Given the description of an element on the screen output the (x, y) to click on. 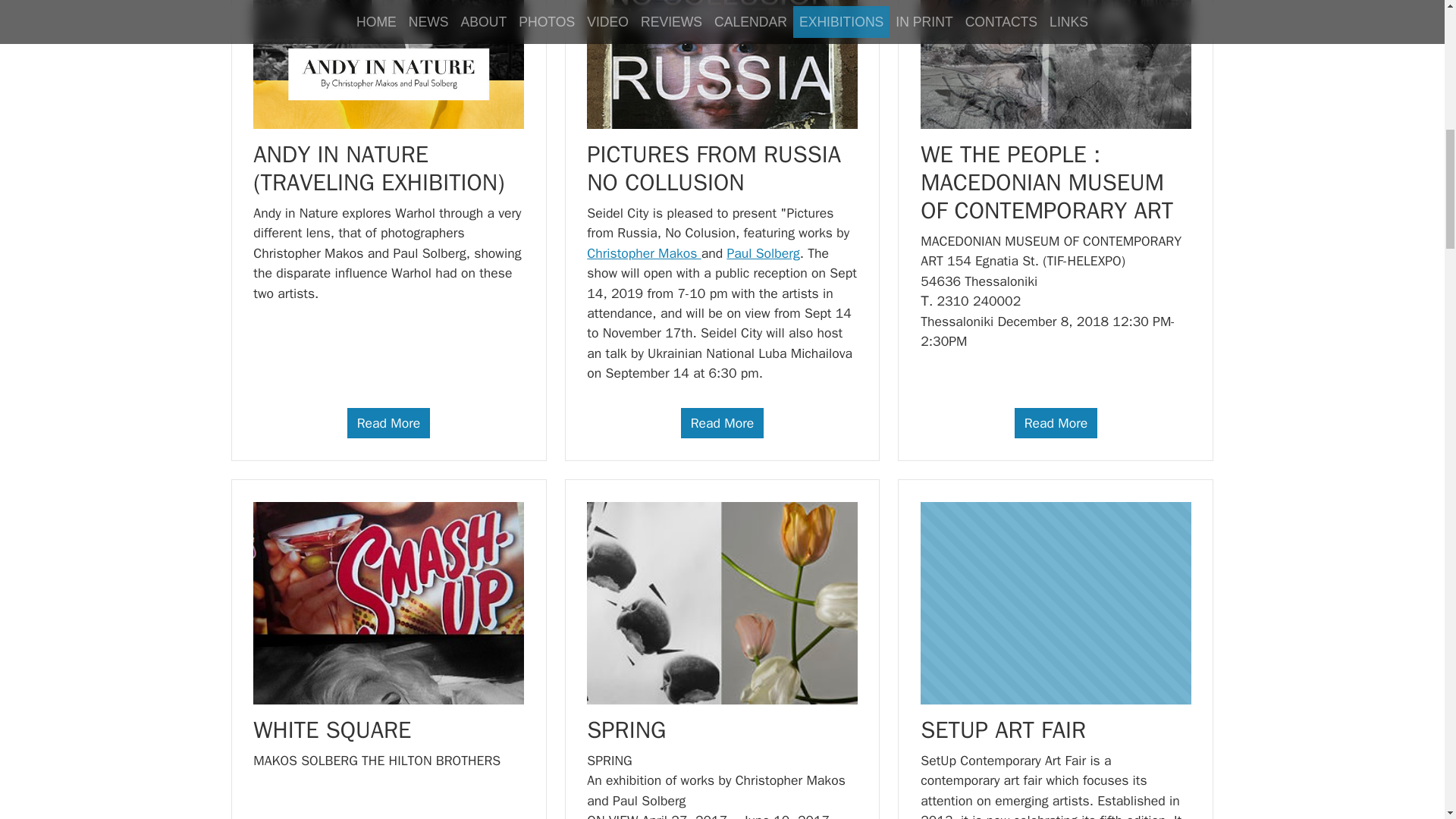
Paul Solberg (762, 252)
Christopher Makos (643, 252)
